Given the description of an element on the screen output the (x, y) to click on. 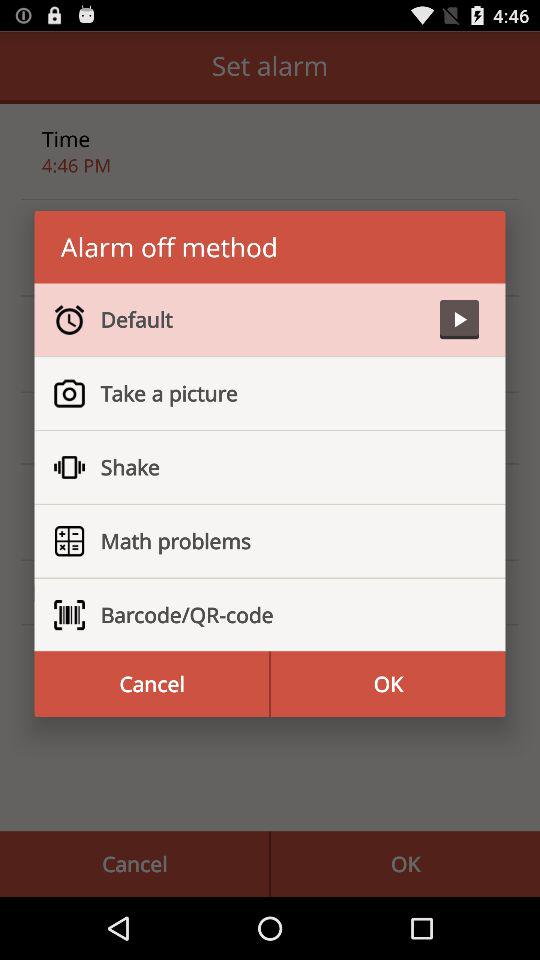
tap the item below the alarm off method (262, 319)
